Given the description of an element on the screen output the (x, y) to click on. 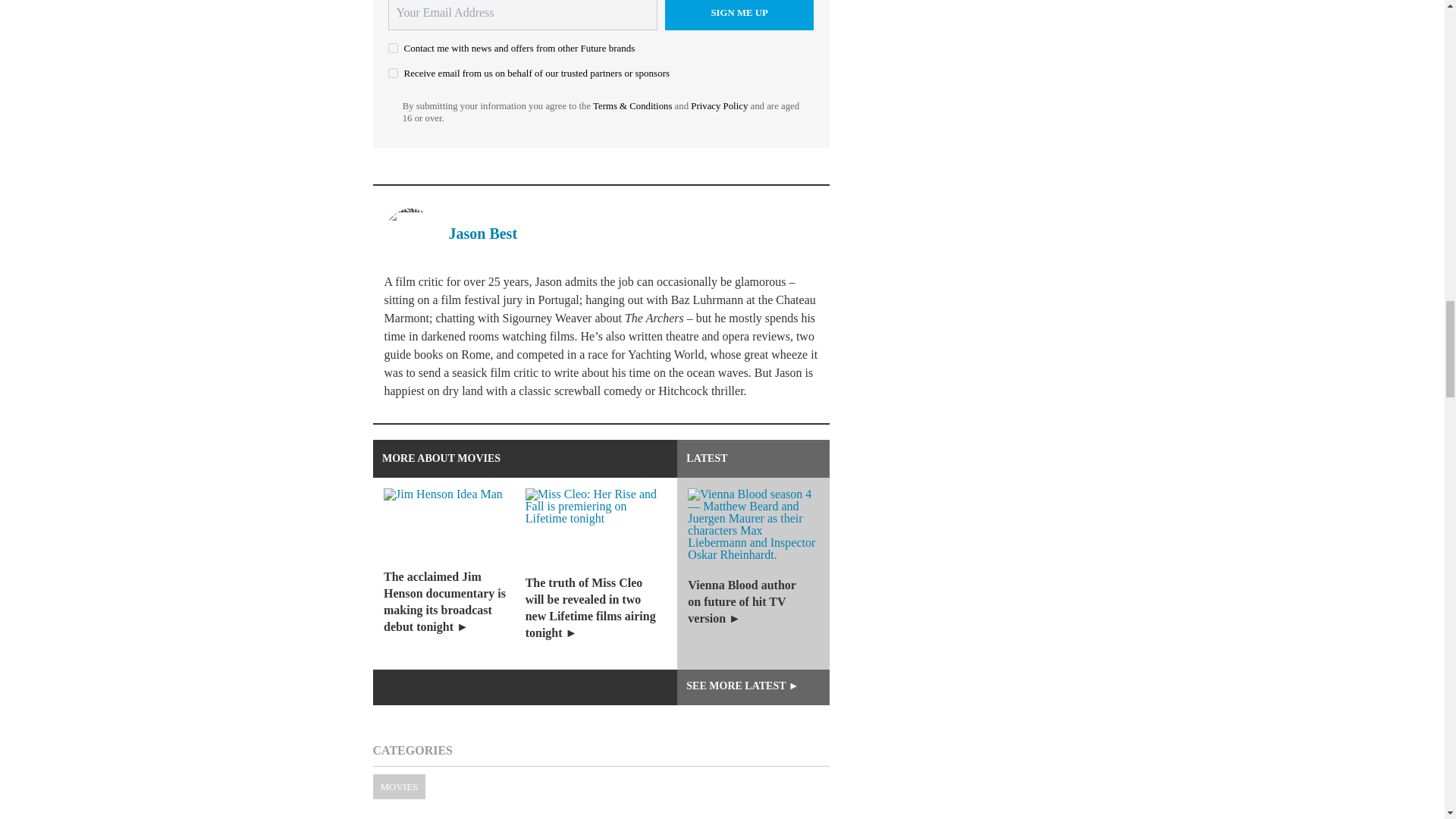
on (392, 72)
Sign me up (739, 15)
on (392, 48)
